Given the description of an element on the screen output the (x, y) to click on. 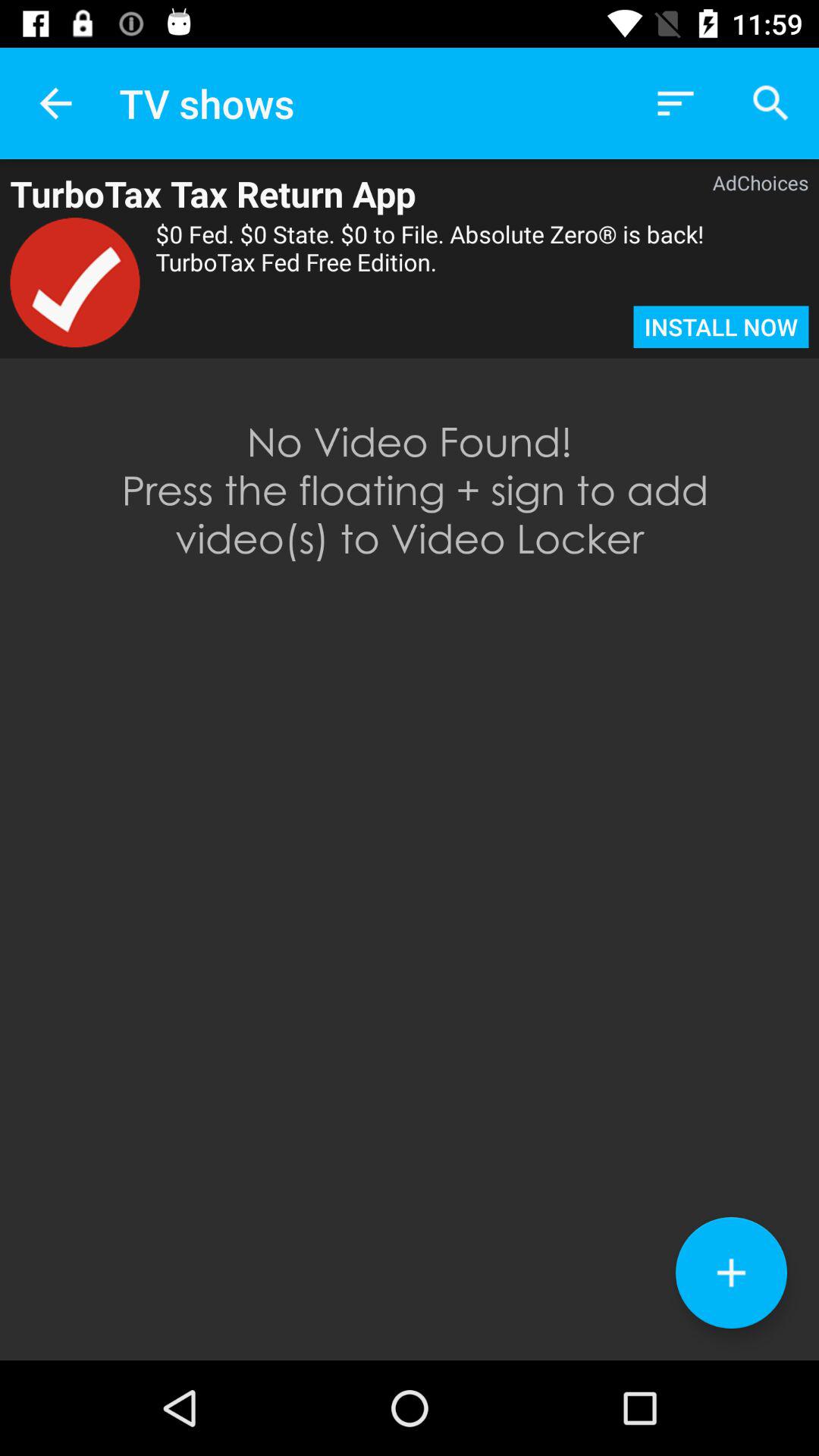
select icon to the right of tv shows item (675, 103)
